Given the description of an element on the screen output the (x, y) to click on. 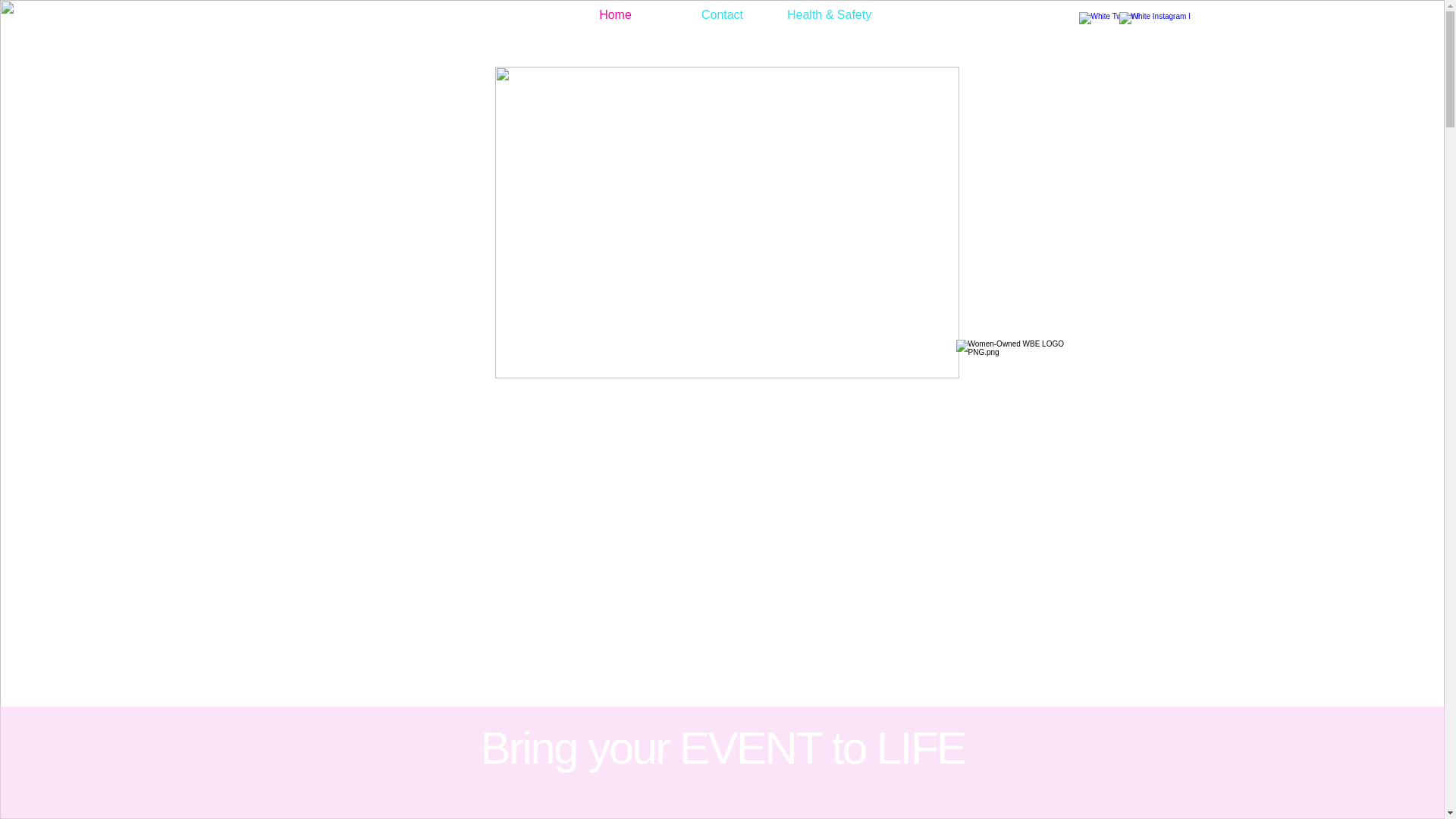
Contact (722, 15)
Home (615, 15)
